Given the description of an element on the screen output the (x, y) to click on. 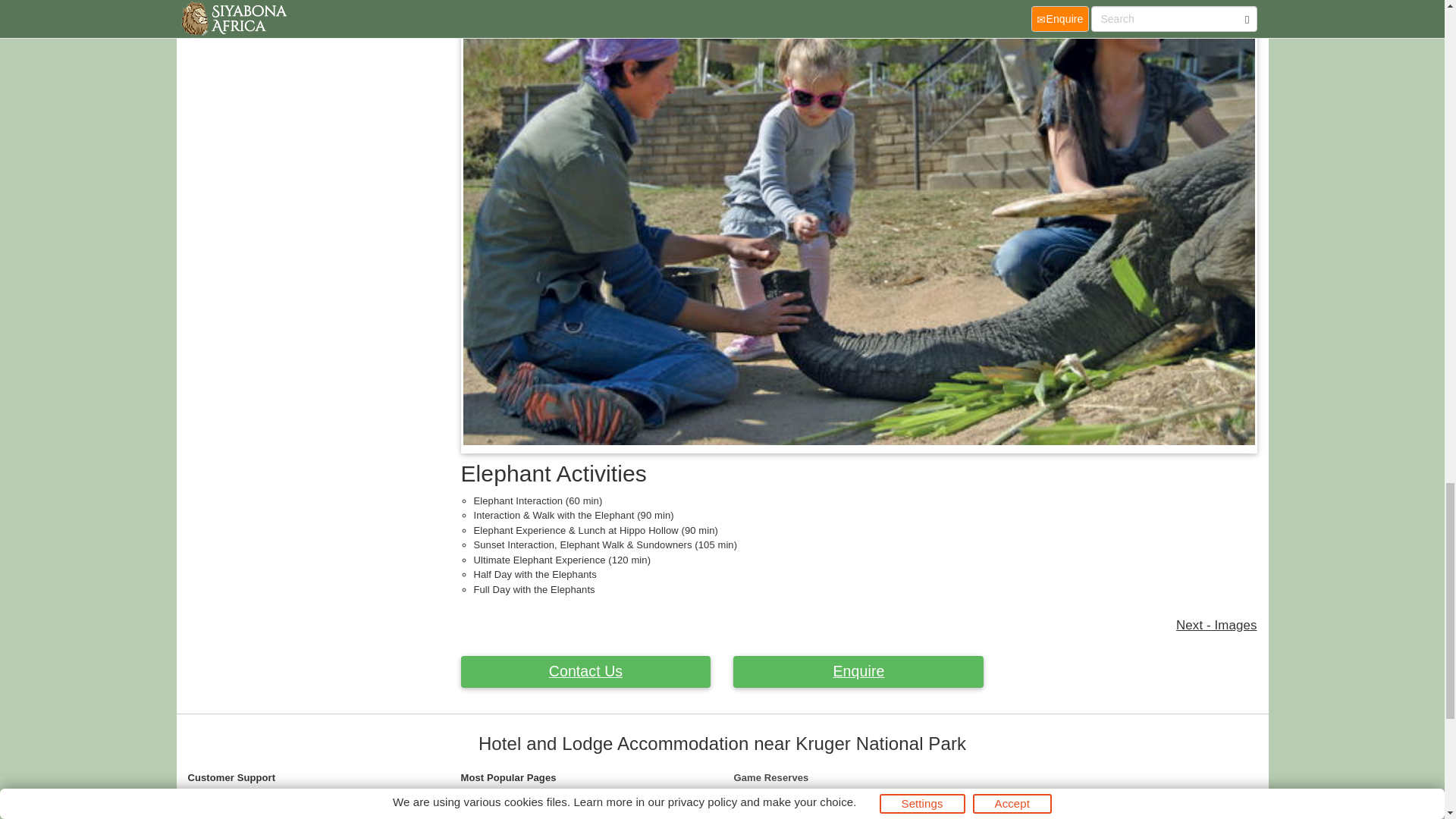
Ask a Question (586, 671)
Enquire (858, 671)
Contact Us (586, 671)
Next - Images (1216, 624)
View Images (1216, 624)
Request Booking (858, 671)
